Given the description of an element on the screen output the (x, y) to click on. 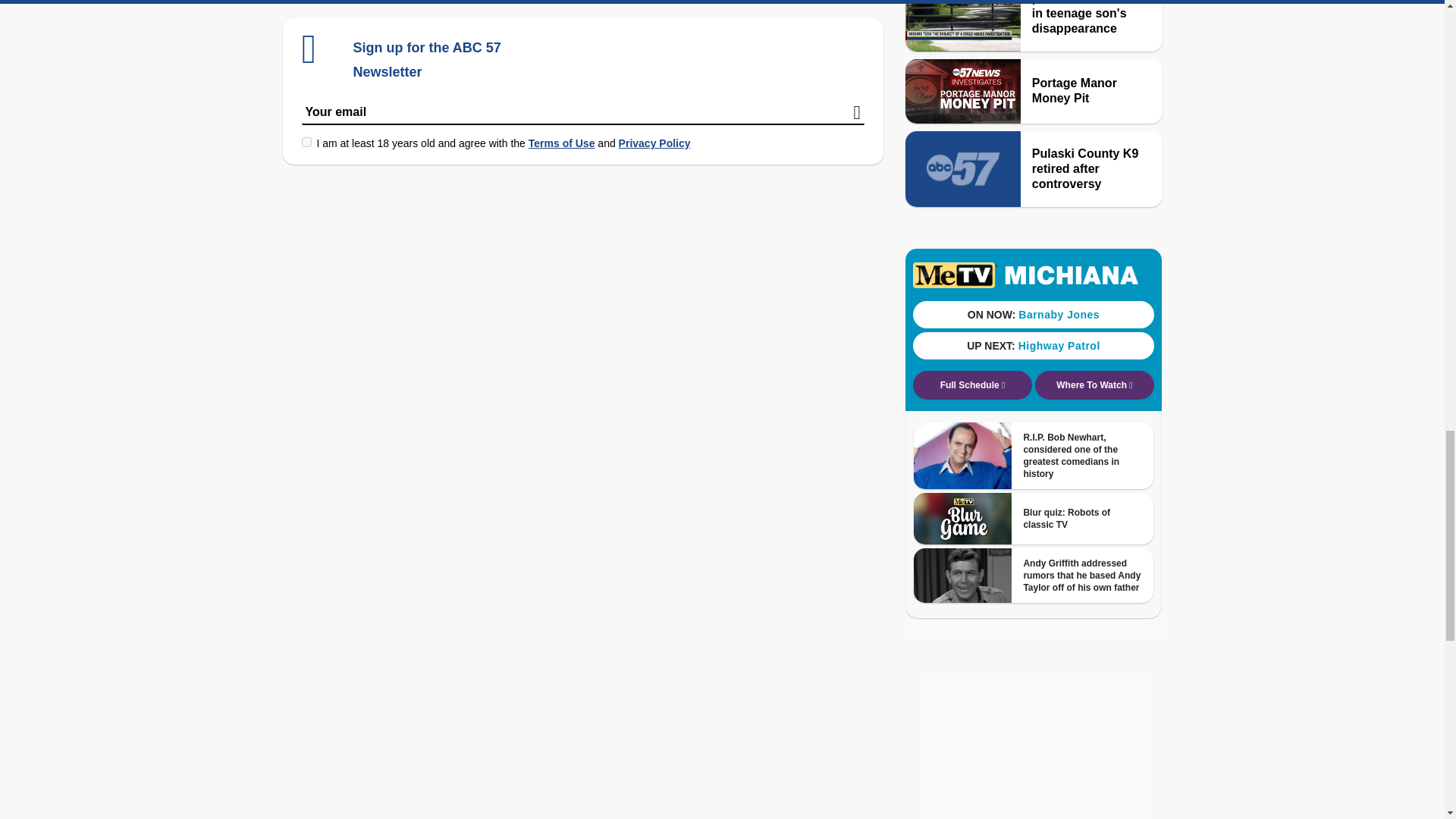
on (306, 142)
